Given the description of an element on the screen output the (x, y) to click on. 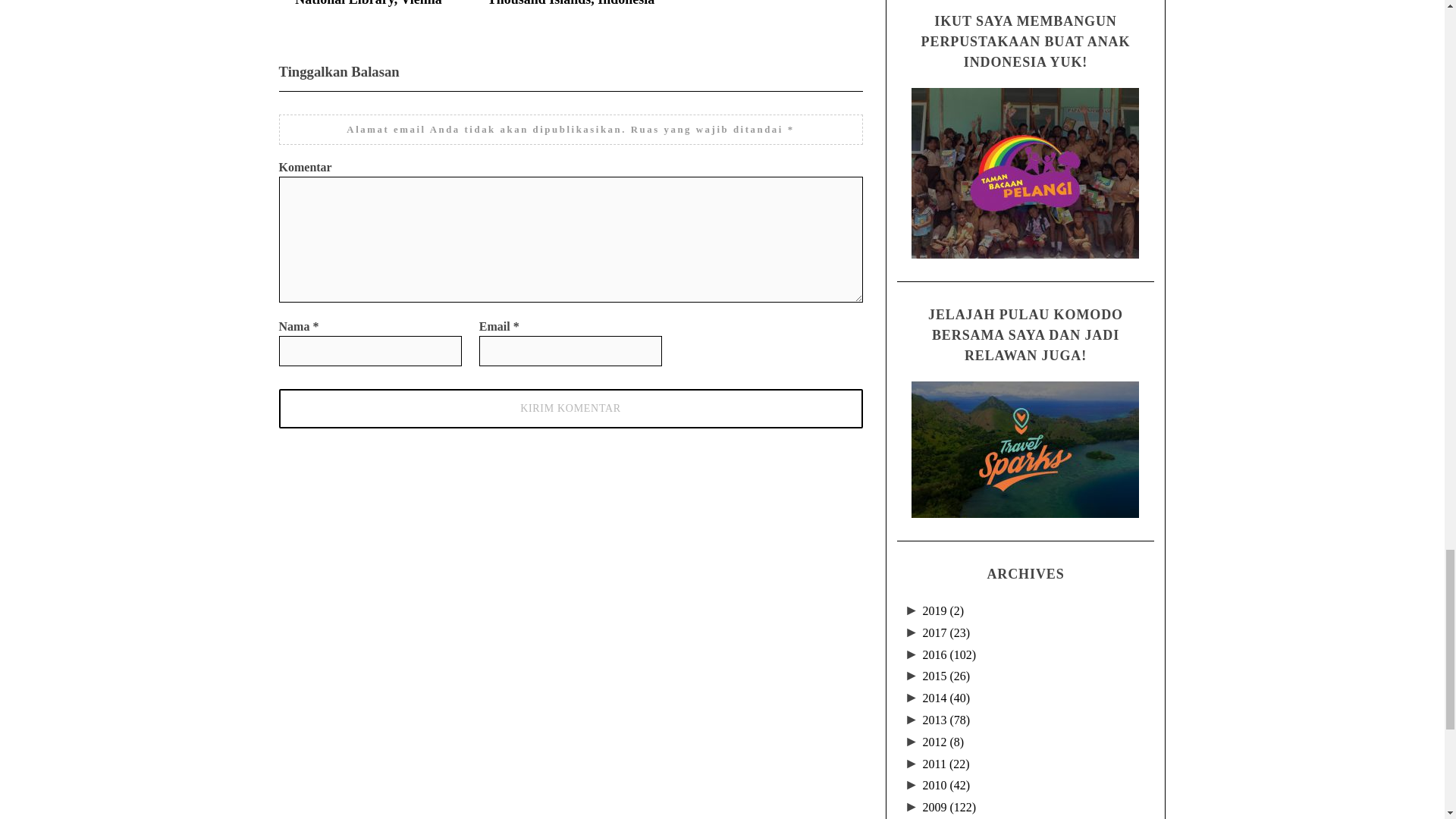
click to expand (912, 632)
Kirim Komentar (571, 408)
click to expand (912, 610)
